Given the description of an element on the screen output the (x, y) to click on. 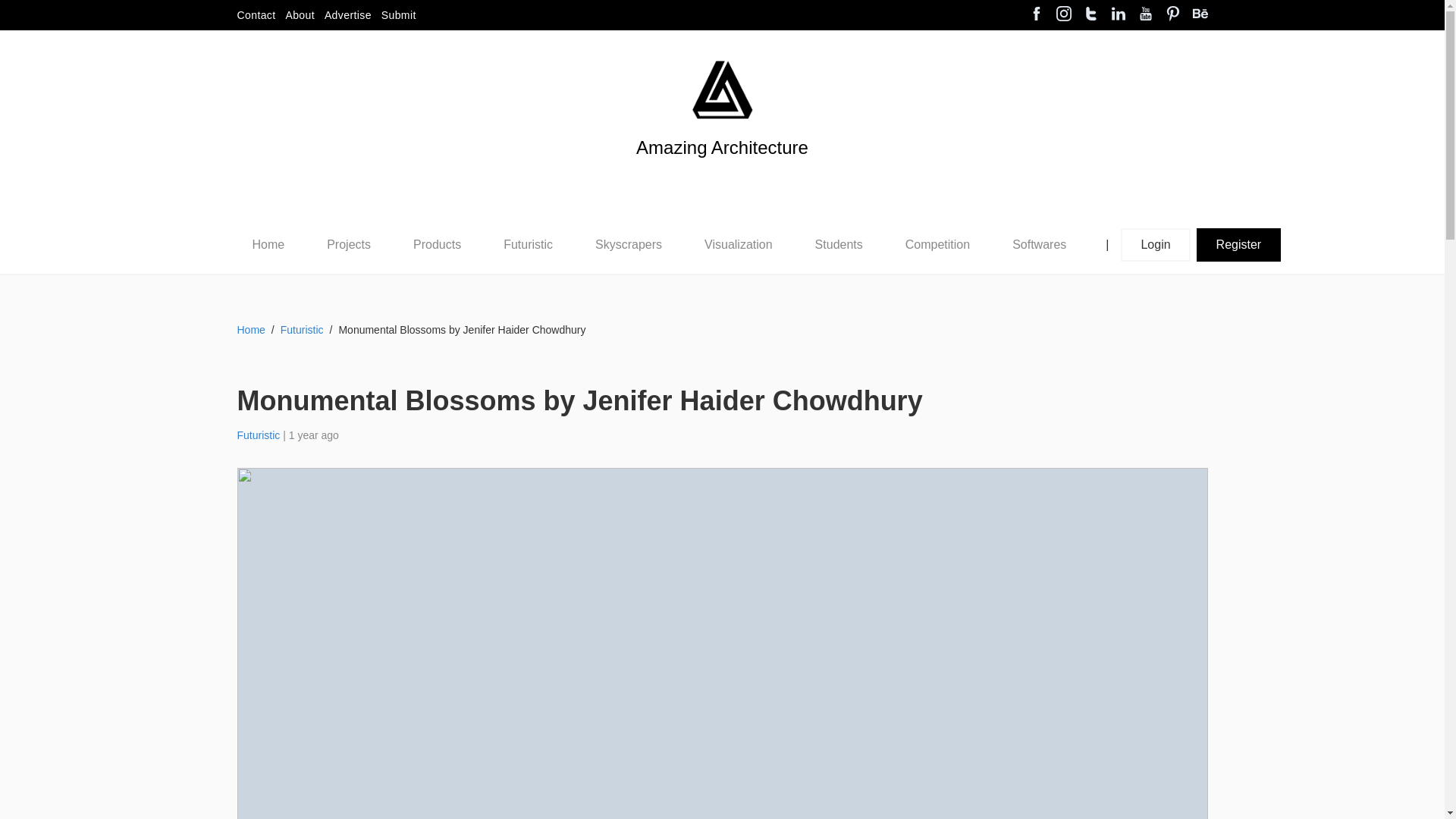
About (299, 15)
Submit (398, 15)
Projects (348, 244)
Advertisement page (347, 15)
Projects (348, 245)
Amazing Architecture (722, 173)
Home (267, 245)
Amazing Architecture (722, 173)
Advertise (347, 15)
Amazing Architecture (721, 88)
